Given the description of an element on the screen output the (x, y) to click on. 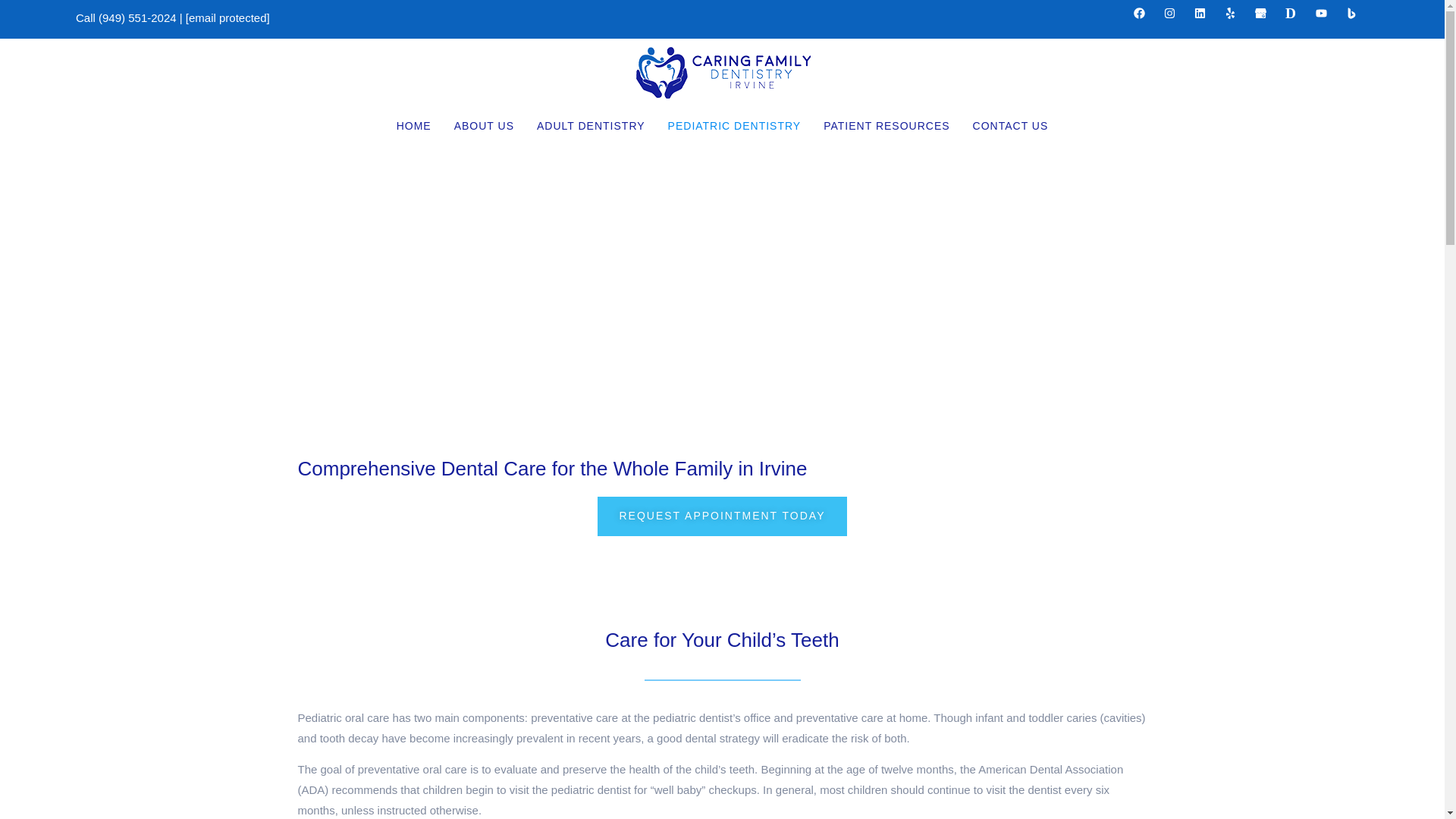
D (1291, 12)
ABOUT US (483, 125)
HOME (413, 125)
ADULT DENTISTRY (590, 125)
D (1296, 18)
PEDIATRIC DENTISTRY (734, 125)
